Given the description of an element on the screen output the (x, y) to click on. 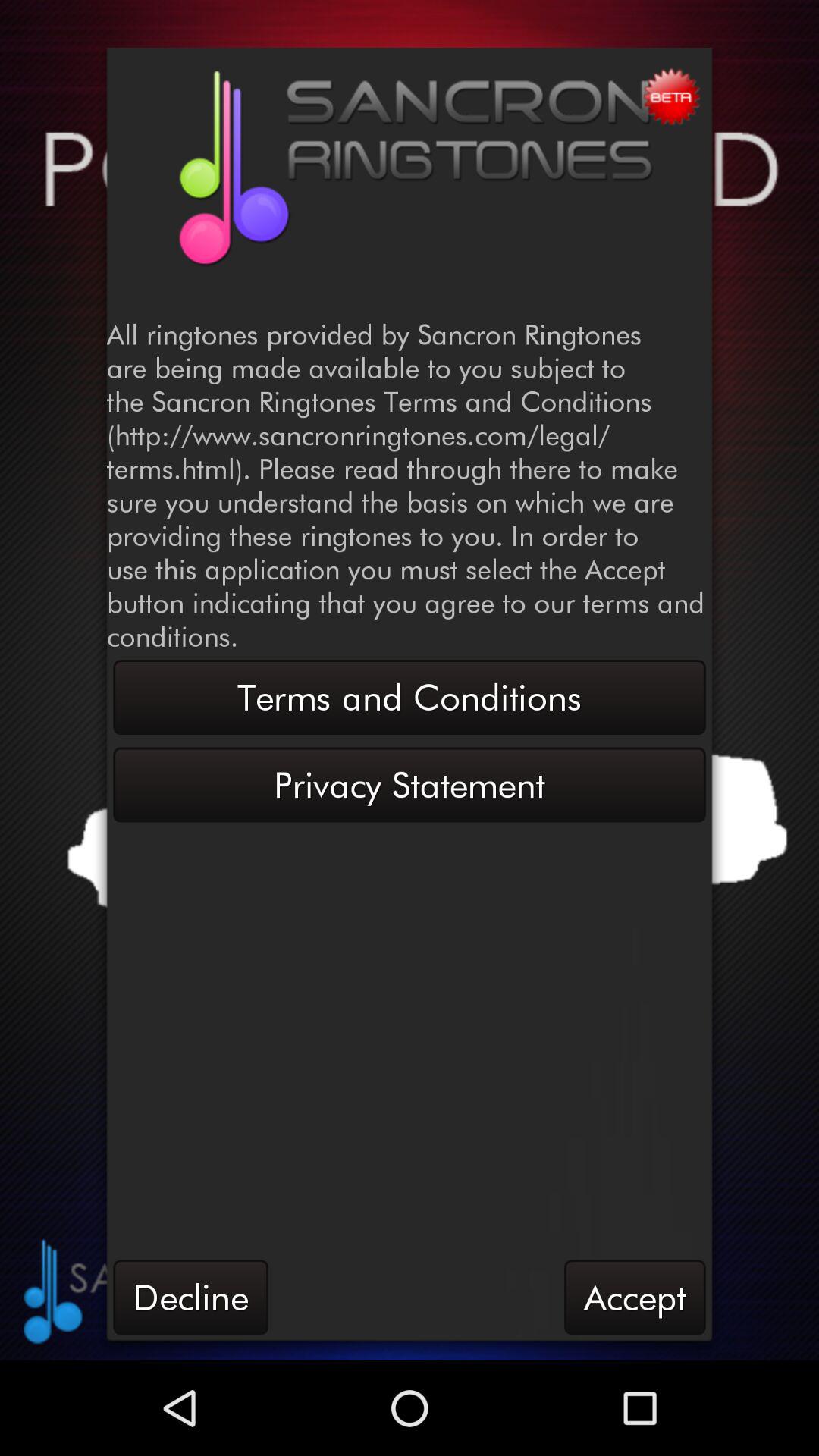
flip to the decline (190, 1296)
